Given the description of an element on the screen output the (x, y) to click on. 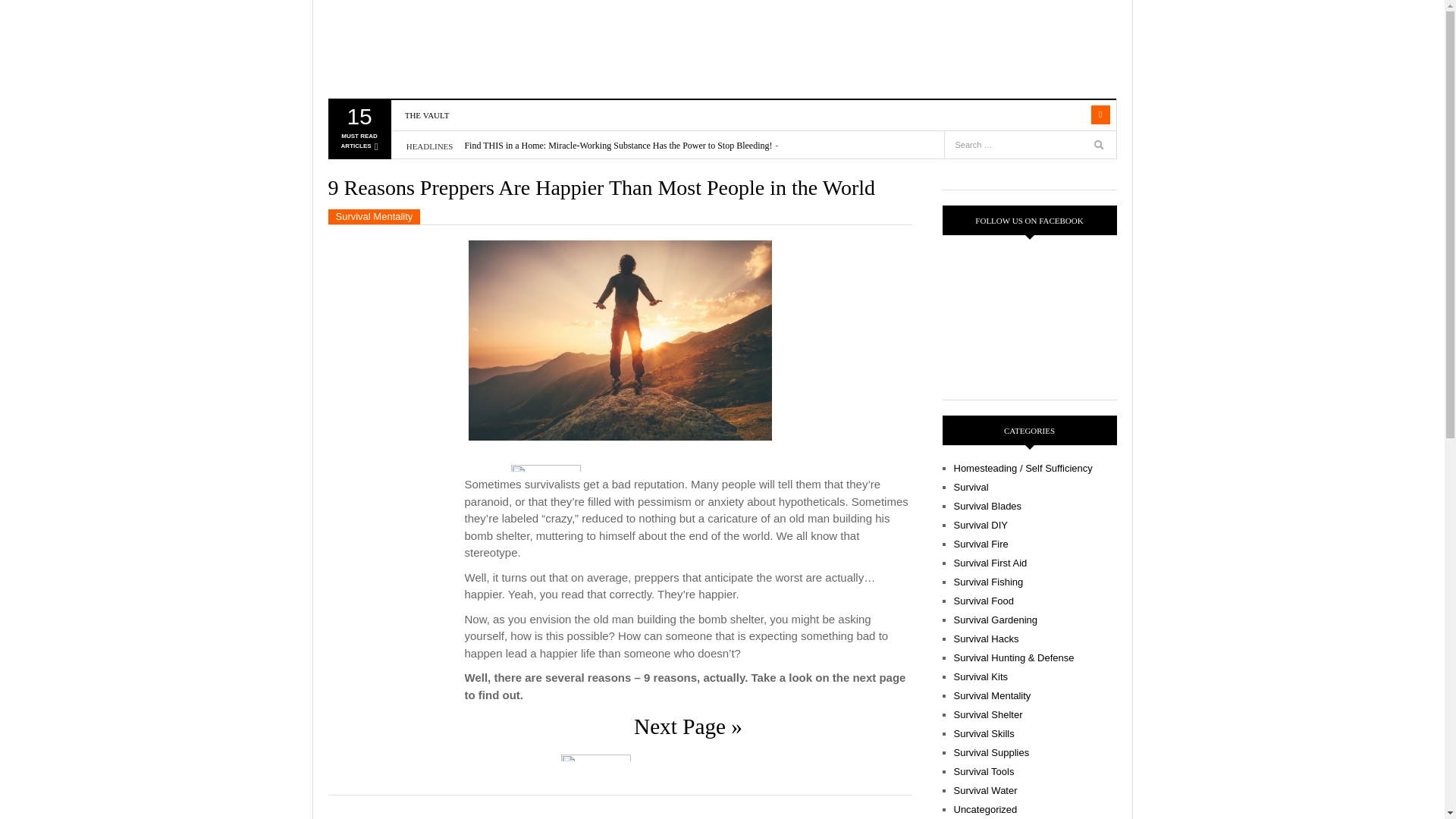
THE VAULT (427, 114)
Die Hard Survivor (414, 49)
Search (1070, 115)
Search (1100, 146)
Die Hard Survivor (358, 132)
